Given the description of an element on the screen output the (x, y) to click on. 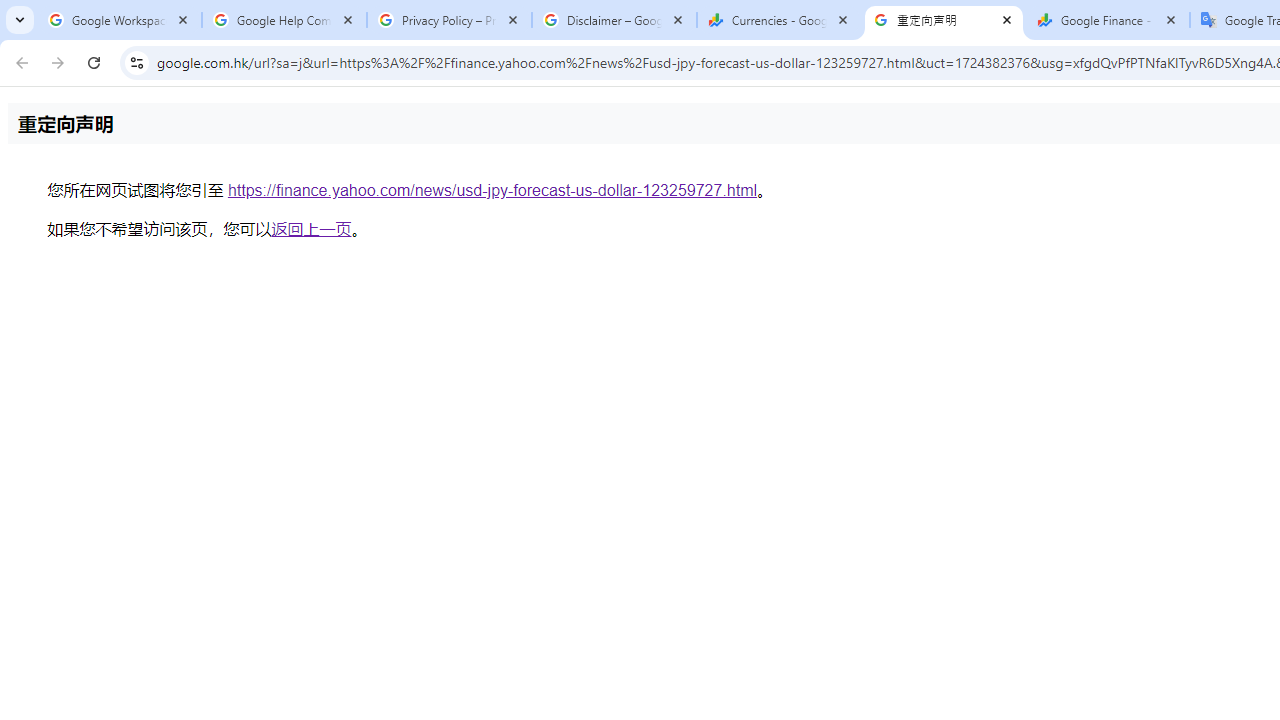
Currencies - Google Finance (779, 20)
Google Workspace Admin Community (119, 20)
